Given the description of an element on the screen output the (x, y) to click on. 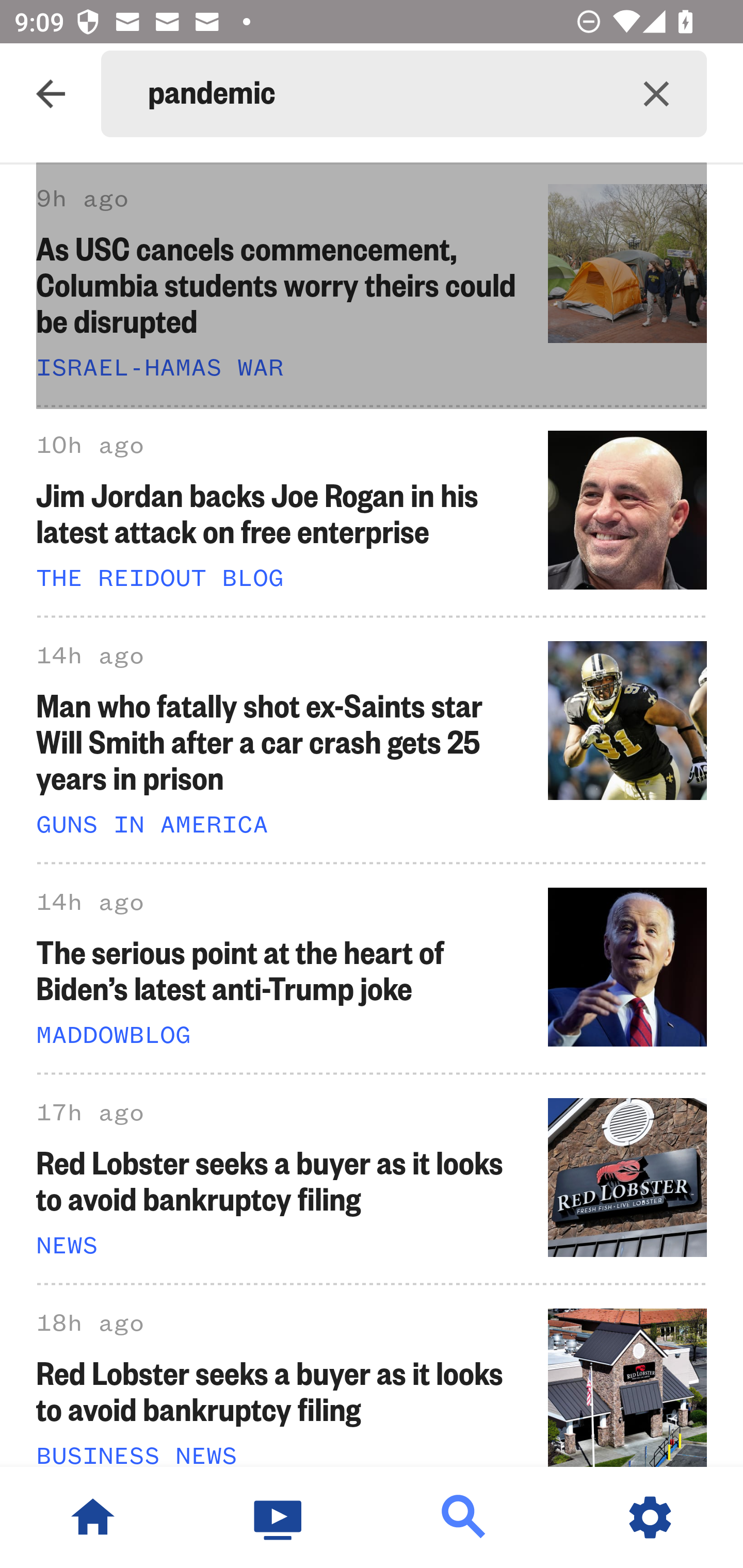
Navigate up (50, 93)
Clear query (656, 93)
pandemic (376, 94)
NBC News Home (92, 1517)
Watch (278, 1517)
Settings (650, 1517)
